Given the description of an element on the screen output the (x, y) to click on. 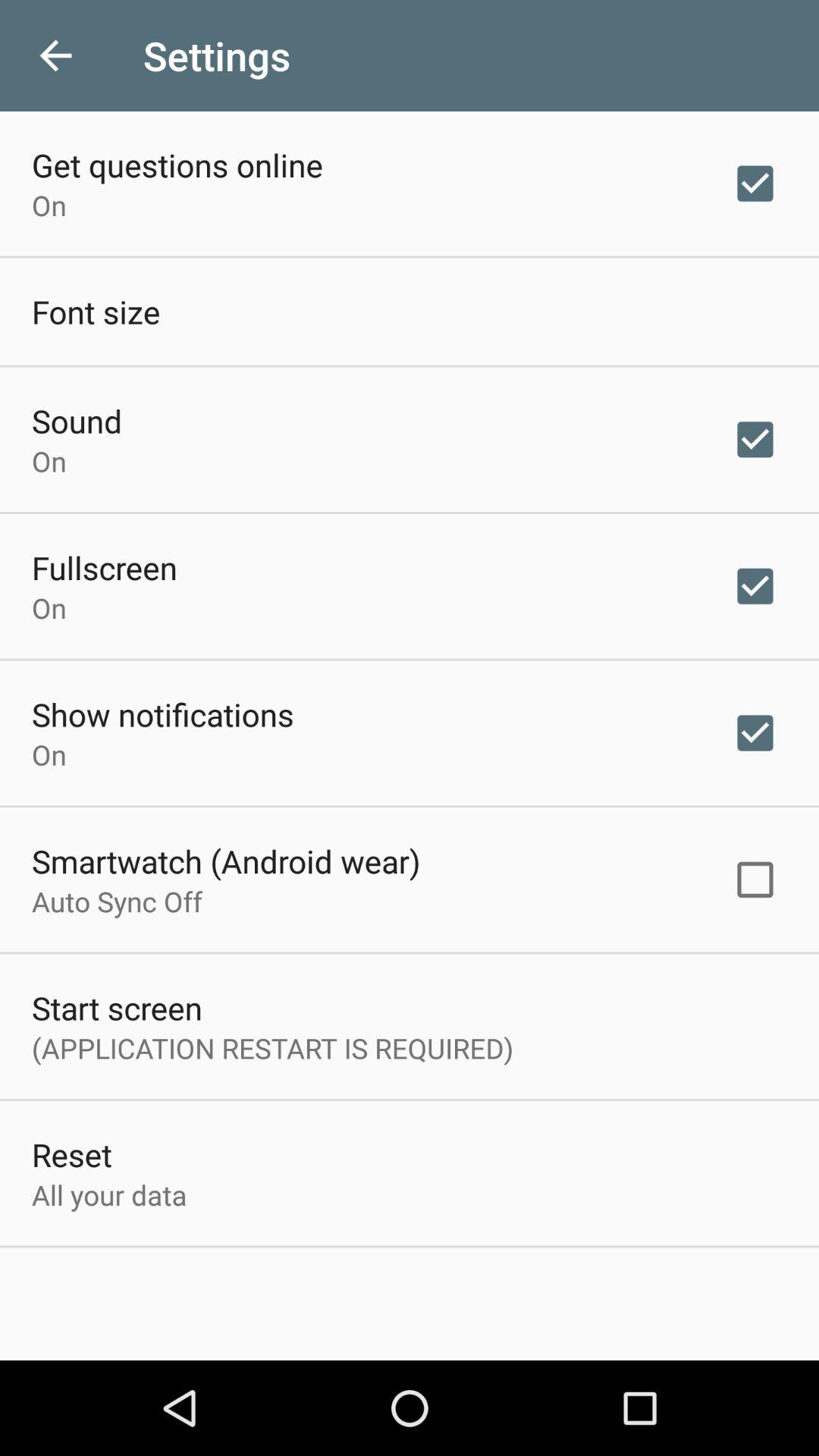
select item below start screen icon (272, 1047)
